Given the description of an element on the screen output the (x, y) to click on. 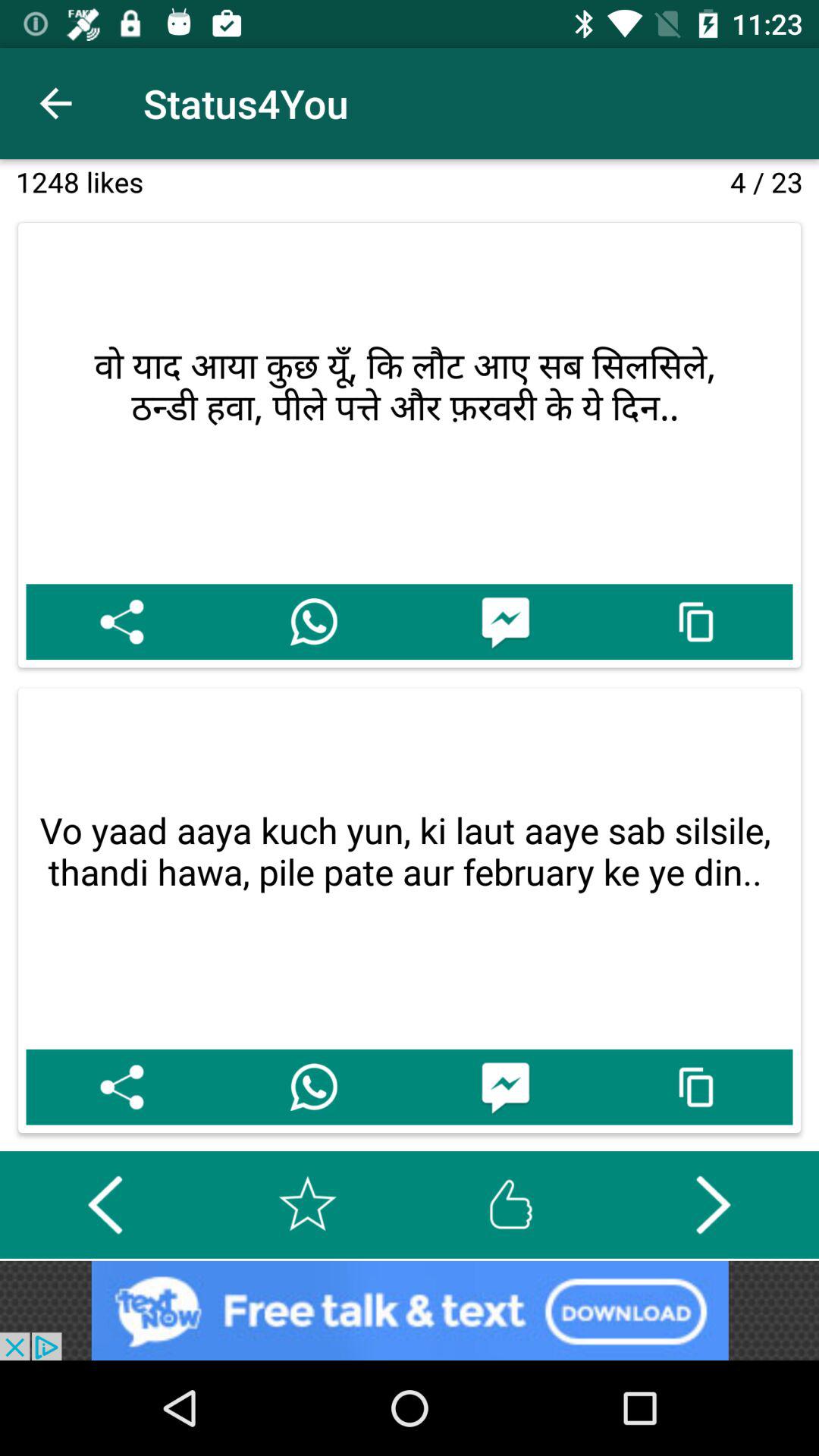
favorite page (307, 1204)
